Given the description of an element on the screen output the (x, y) to click on. 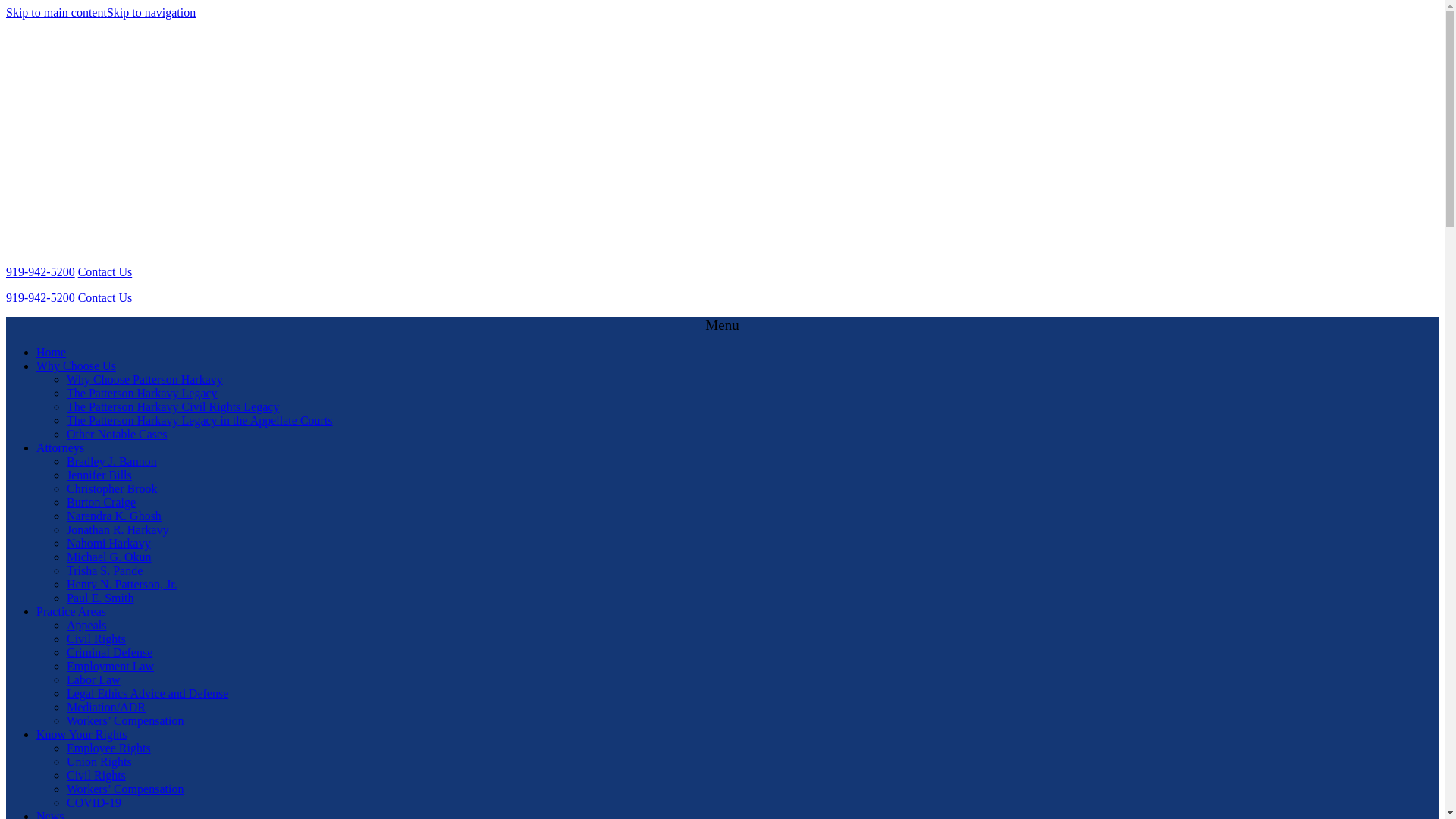
Why Choose Patterson Harkavy (144, 379)
Why Choose Us (76, 365)
Labor Law (93, 679)
Civil Rights (95, 638)
Contact Us (105, 297)
Skip to main content (55, 11)
The Patterson Harkavy Legacy (141, 392)
Other Notable Cases (116, 433)
Henry N. Patterson, Jr. (121, 584)
Trisha S. Pande (104, 570)
